Given the description of an element on the screen output the (x, y) to click on. 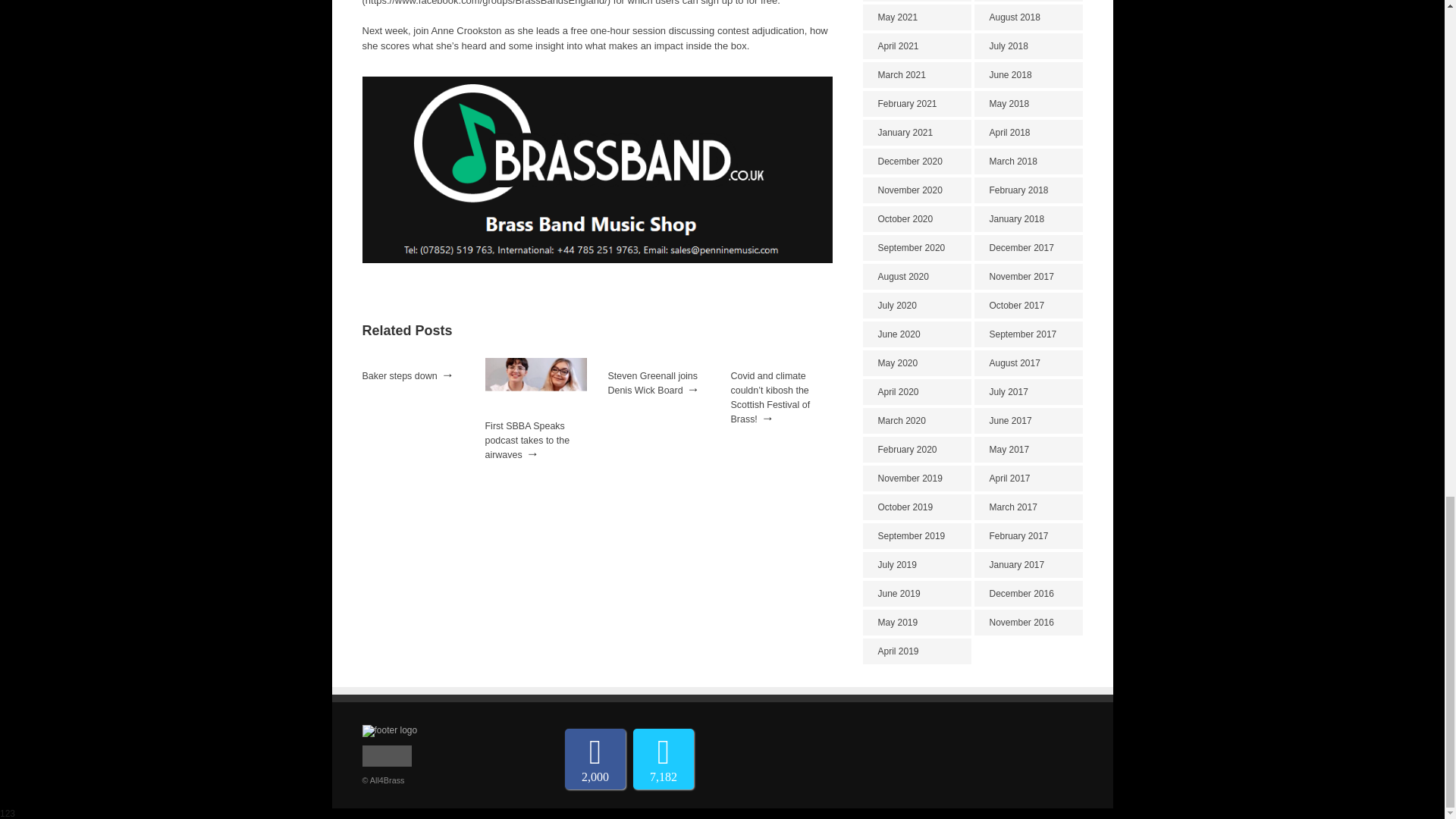
Baker steps down (400, 376)
Steven Greenall joins Denis Wick Board (653, 383)
Steven Greenall joins Denis Wick Board (653, 383)
Baker steps down (400, 376)
First SBBA Speaks podcast takes to the airwaves (535, 412)
First SBBA Speaks podcast takes to the airwaves (527, 440)
First SBBA Speaks podcast takes to the airwaves (527, 440)
